Given the description of an element on the screen output the (x, y) to click on. 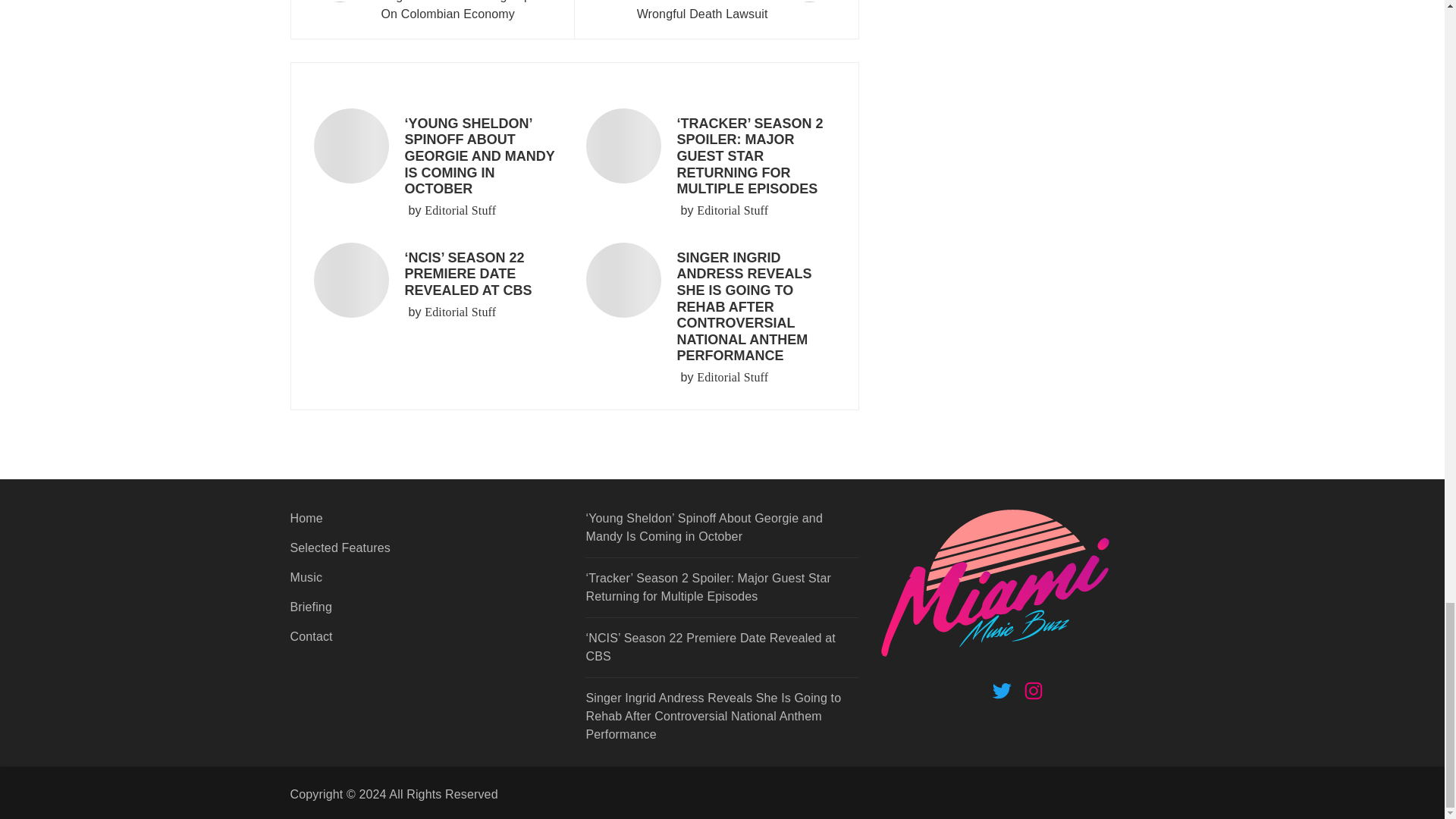
Editorial Stuff (460, 312)
Editorial Stuff (732, 377)
Editorial Stuff (732, 210)
Selected Features (425, 553)
Home (425, 523)
Editorial Stuff (460, 210)
